Given the description of an element on the screen output the (x, y) to click on. 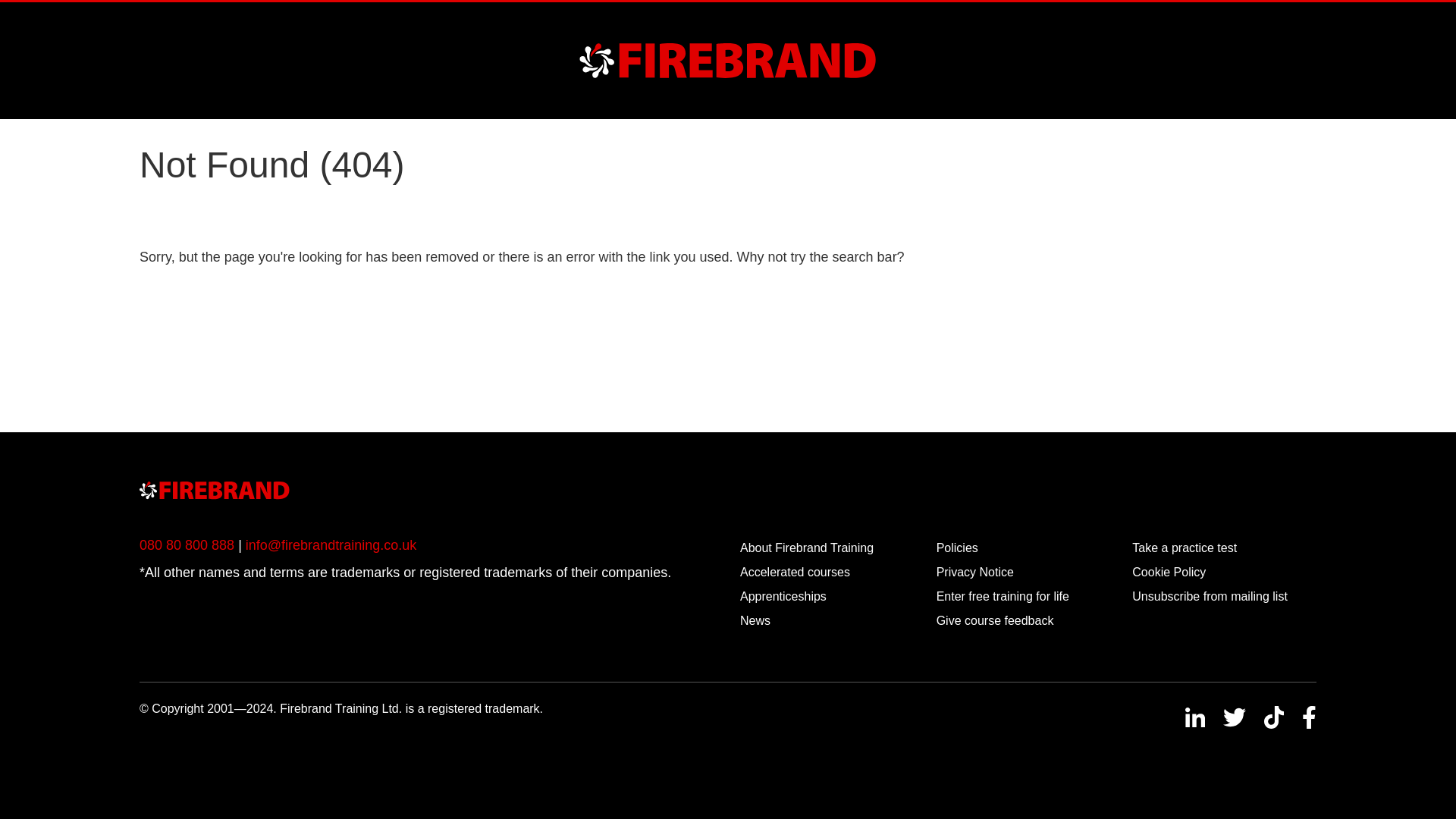
Follow us on Twitter (1234, 716)
Policies (957, 547)
Accelerated courses (794, 571)
Policies (957, 547)
News (754, 620)
Cookie Policy (1168, 571)
Cookie Policy (1168, 571)
080 80 800 888 (186, 544)
Apprenticeships (783, 595)
Privacy Notice (974, 571)
